Given the description of an element on the screen output the (x, y) to click on. 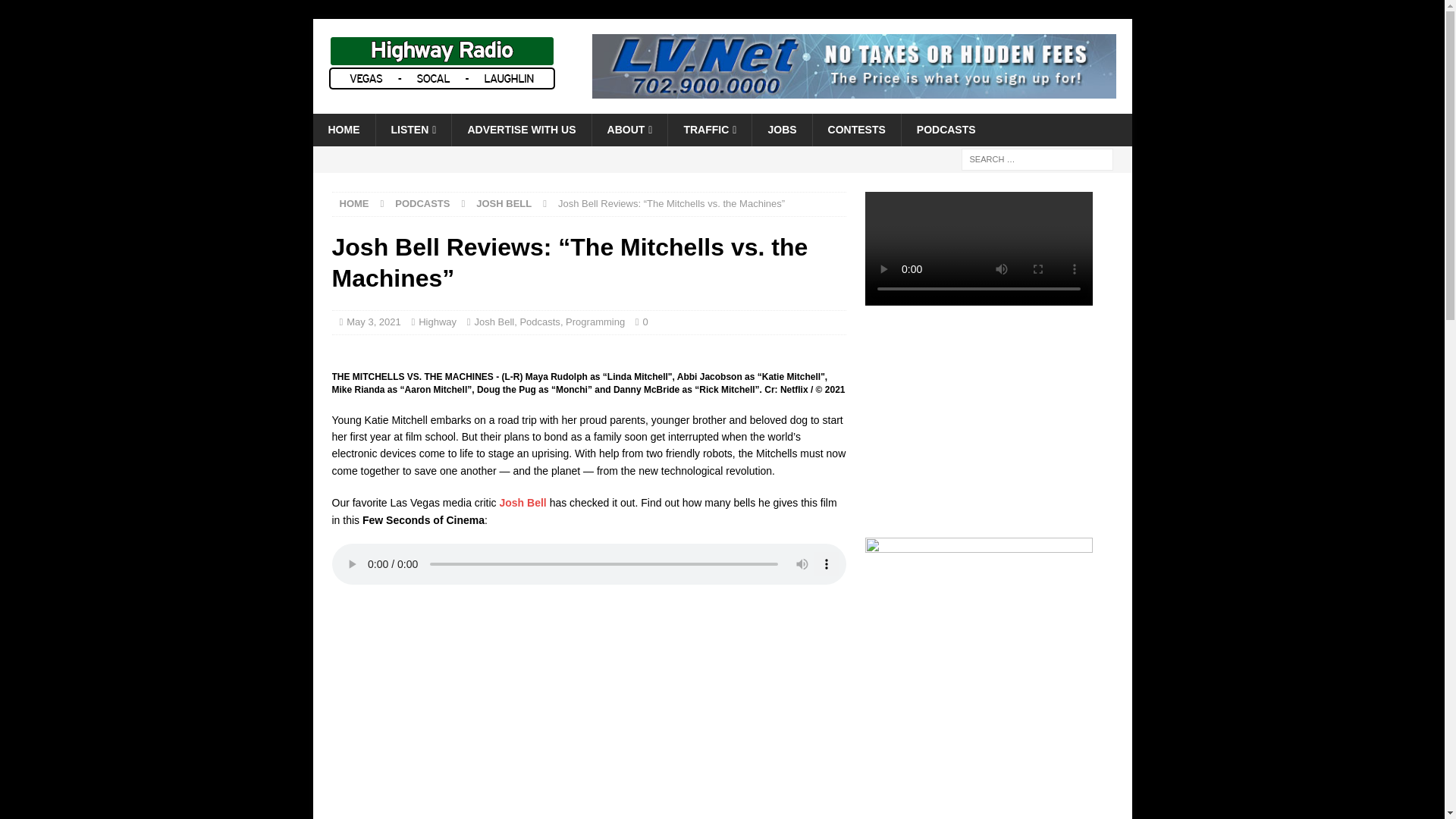
Advertisement (988, 423)
TRAFFIC (708, 129)
Search (56, 11)
PODCASTS (421, 203)
Josh Bell (493, 321)
Highway (438, 321)
ABOUT (629, 129)
Programming (595, 321)
Podcasts (539, 321)
JOSH BELL (503, 203)
